Given the description of an element on the screen output the (x, y) to click on. 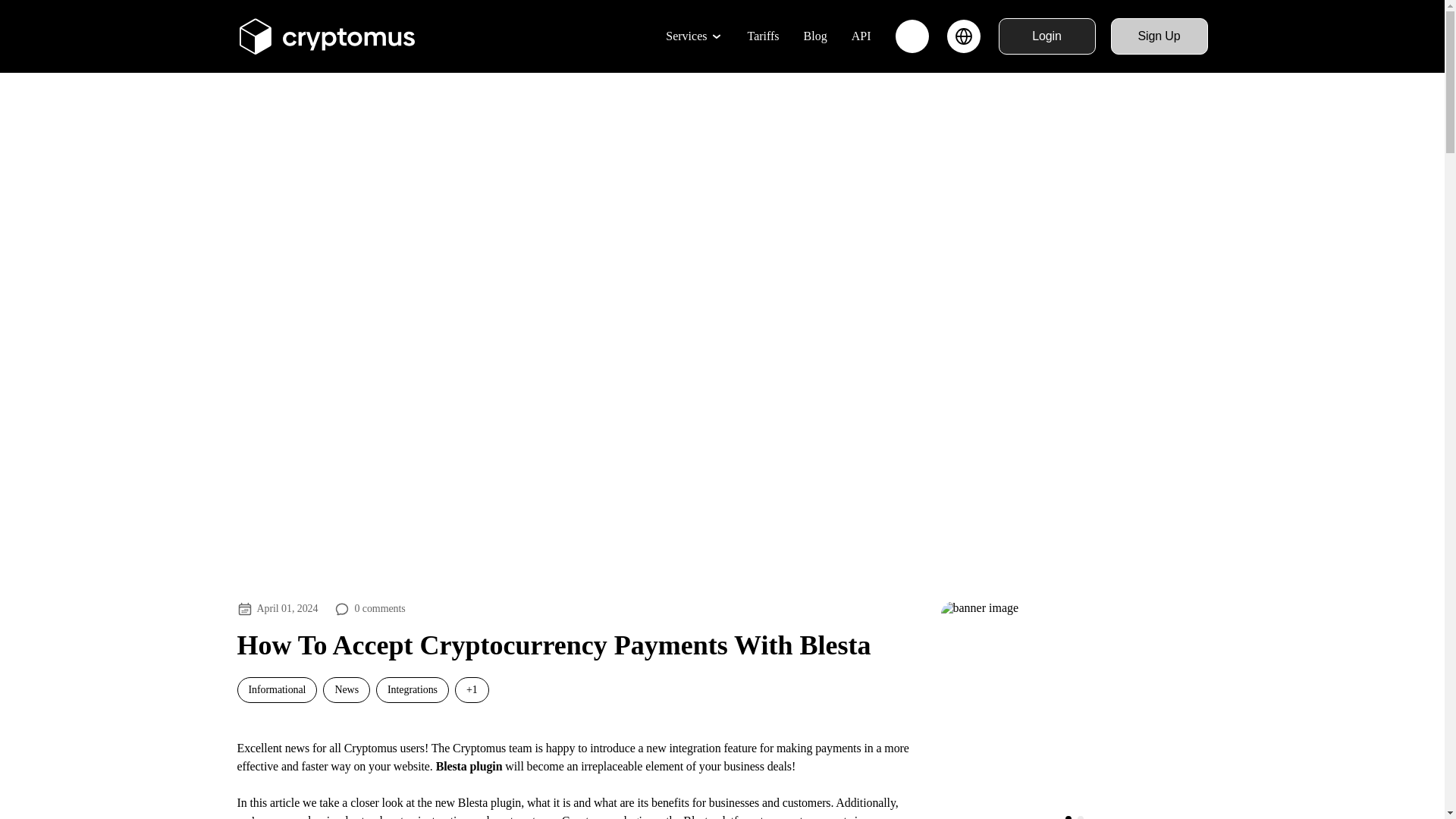
Blog (815, 35)
Tariffs (762, 35)
Login (1045, 35)
Sign Up (1158, 36)
Login (1045, 36)
Sign Up (1158, 35)
API (860, 35)
